Given the description of an element on the screen output the (x, y) to click on. 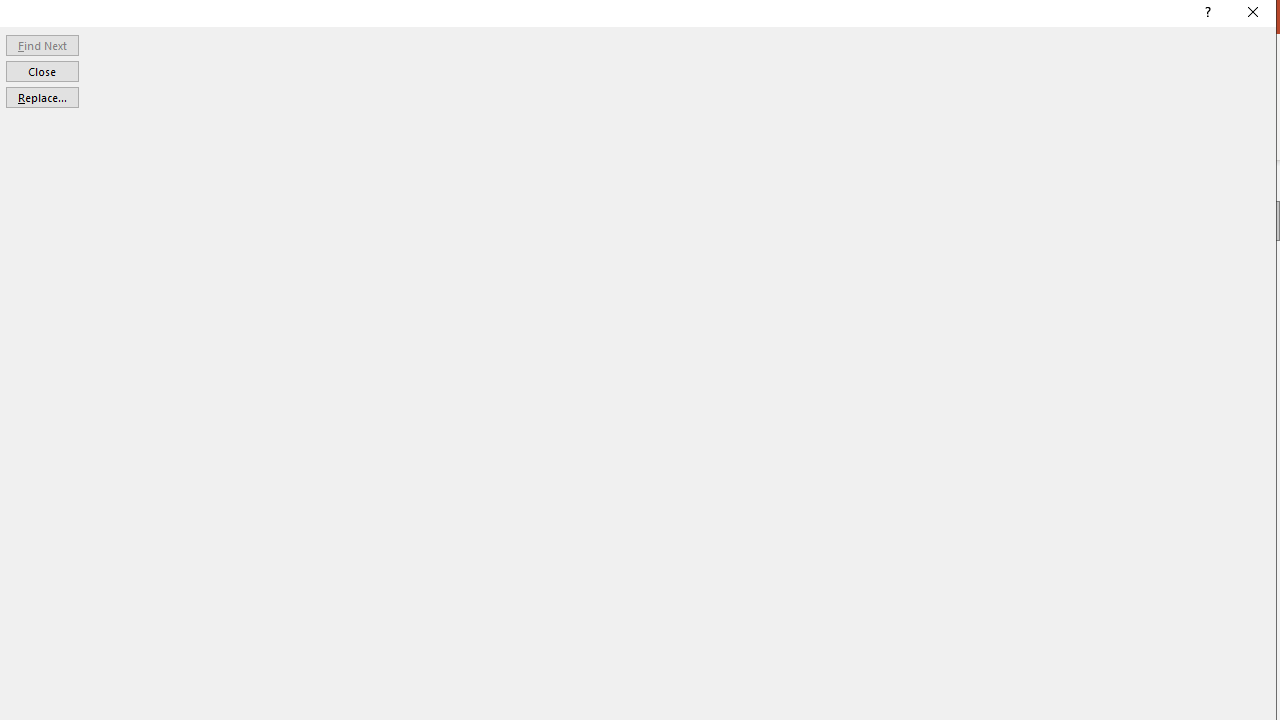
Find Next (42, 44)
